Given the description of an element on the screen output the (x, y) to click on. 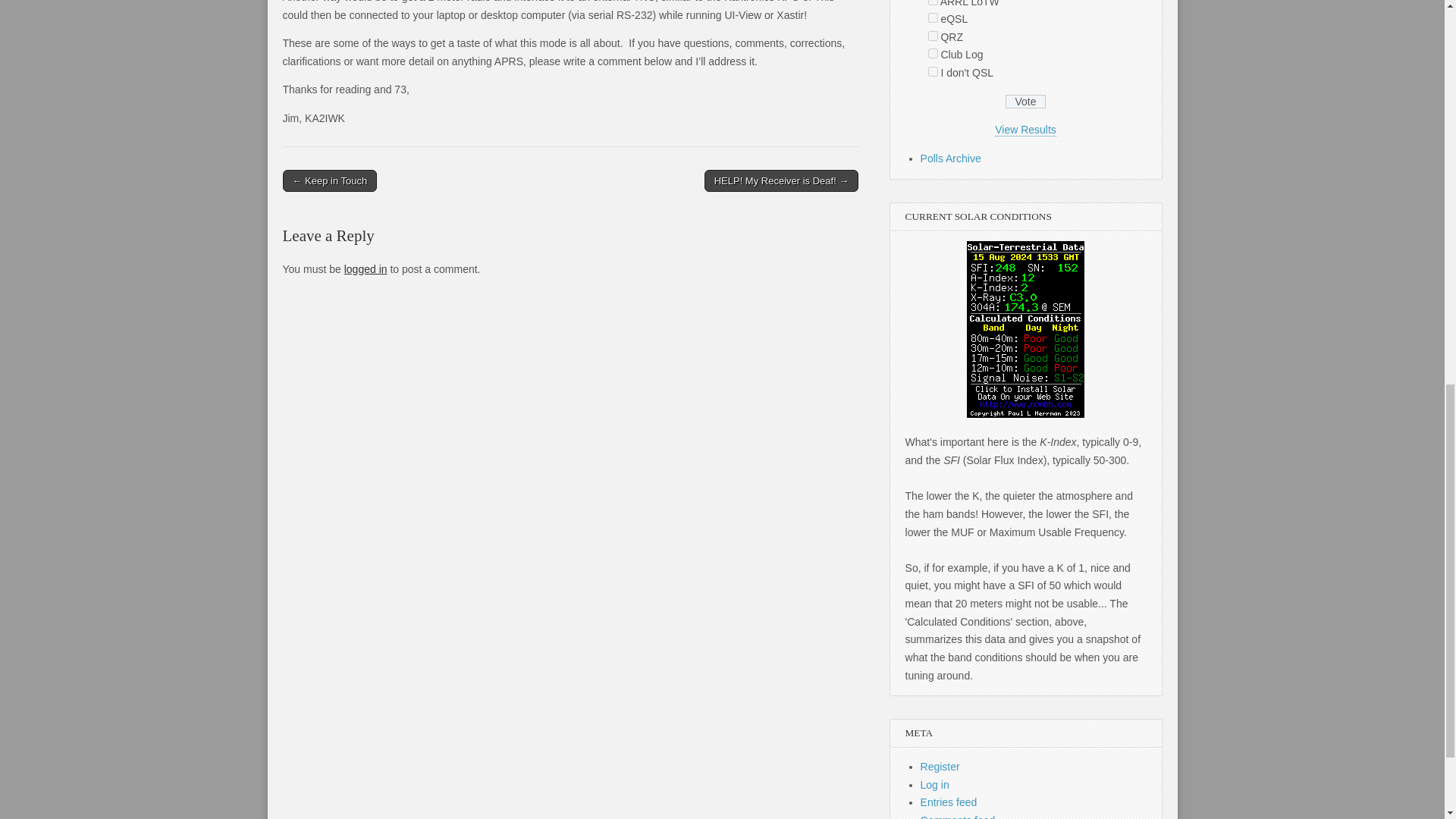
102 (932, 2)
View Results Of This Poll (1025, 129)
Click to add Solar-Terrestrial Data to your website! (1025, 413)
104 (932, 35)
105 (932, 53)
106 (932, 71)
103 (932, 17)
   Vote    (1025, 101)
